Given the description of an element on the screen output the (x, y) to click on. 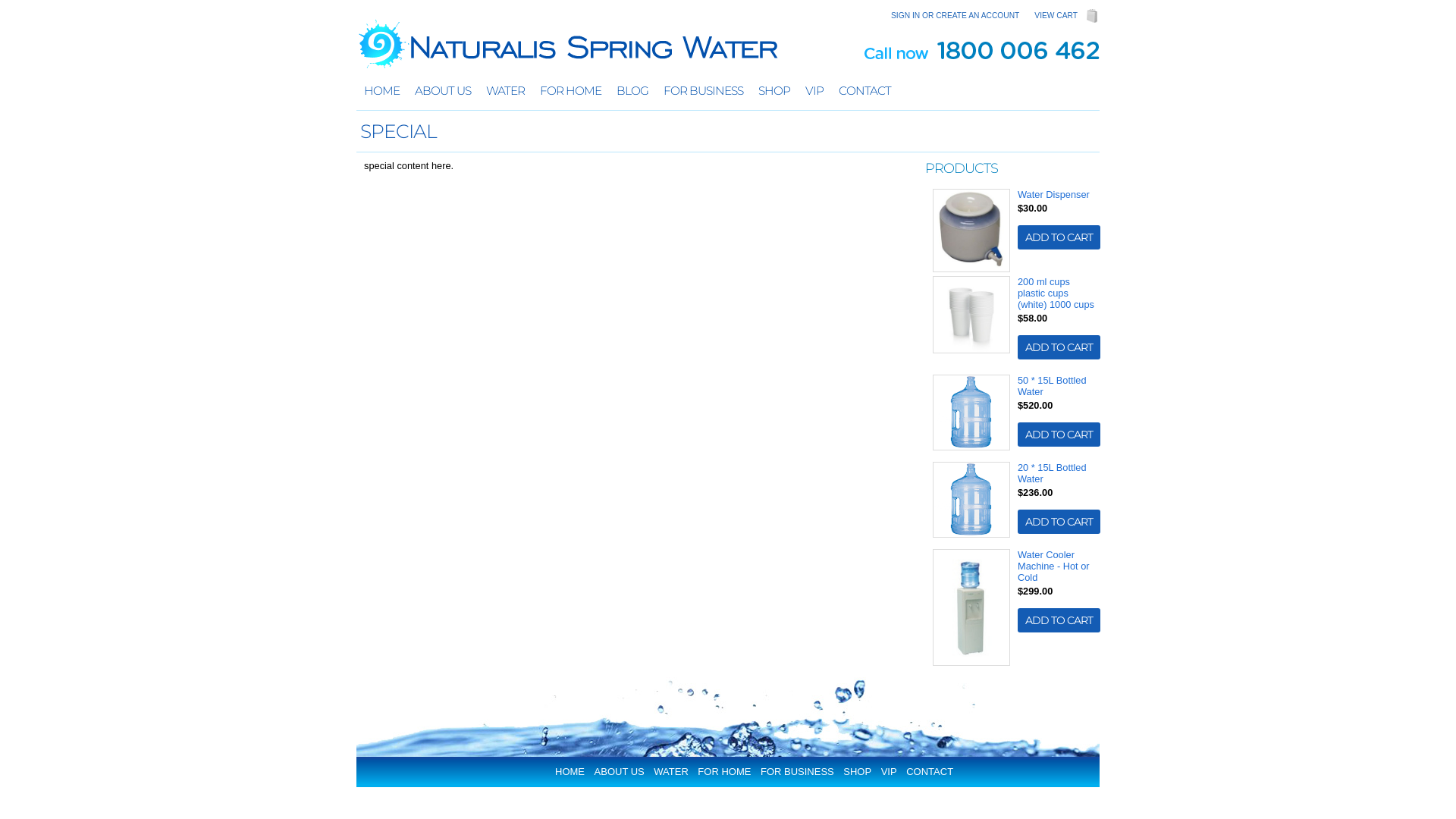
HOME Element type: text (573, 771)
CONTACT Element type: text (864, 90)
FOR HOME Element type: text (727, 771)
SHOP Element type: text (773, 90)
20 * 15L Bottled Water Element type: text (1051, 472)
FOR BUSINESS Element type: text (702, 90)
Water Cooler Machine - Hot or Cold Element type: text (1053, 566)
VIEW CART Element type: text (1055, 15)
200 ml cups plastic cups (white) 1000 cups Element type: text (1055, 293)
ABOUT US Element type: text (442, 90)
VIP Element type: text (892, 771)
SHOP Element type: text (860, 771)
CREATE AN ACCOUNT Element type: text (977, 15)
ADD TO CART Element type: text (1058, 347)
ADD TO CART Element type: text (1058, 620)
ADD TO CART Element type: text (1058, 237)
SIGN IN Element type: text (905, 15)
50 * 15L Bottled Water Element type: text (1051, 385)
ADD TO CART Element type: text (1058, 521)
FOR BUSINESS Element type: text (800, 771)
WATER Element type: text (674, 771)
CONTACT Element type: text (933, 771)
BLOG Element type: text (631, 90)
HOME Element type: text (381, 90)
VIP Element type: text (814, 90)
ADD TO CART Element type: text (1058, 434)
FOR HOME Element type: text (570, 90)
ABOUT US Element type: text (623, 771)
Water Dispenser Element type: text (1053, 194)
WATER Element type: text (505, 90)
